Given the description of an element on the screen output the (x, y) to click on. 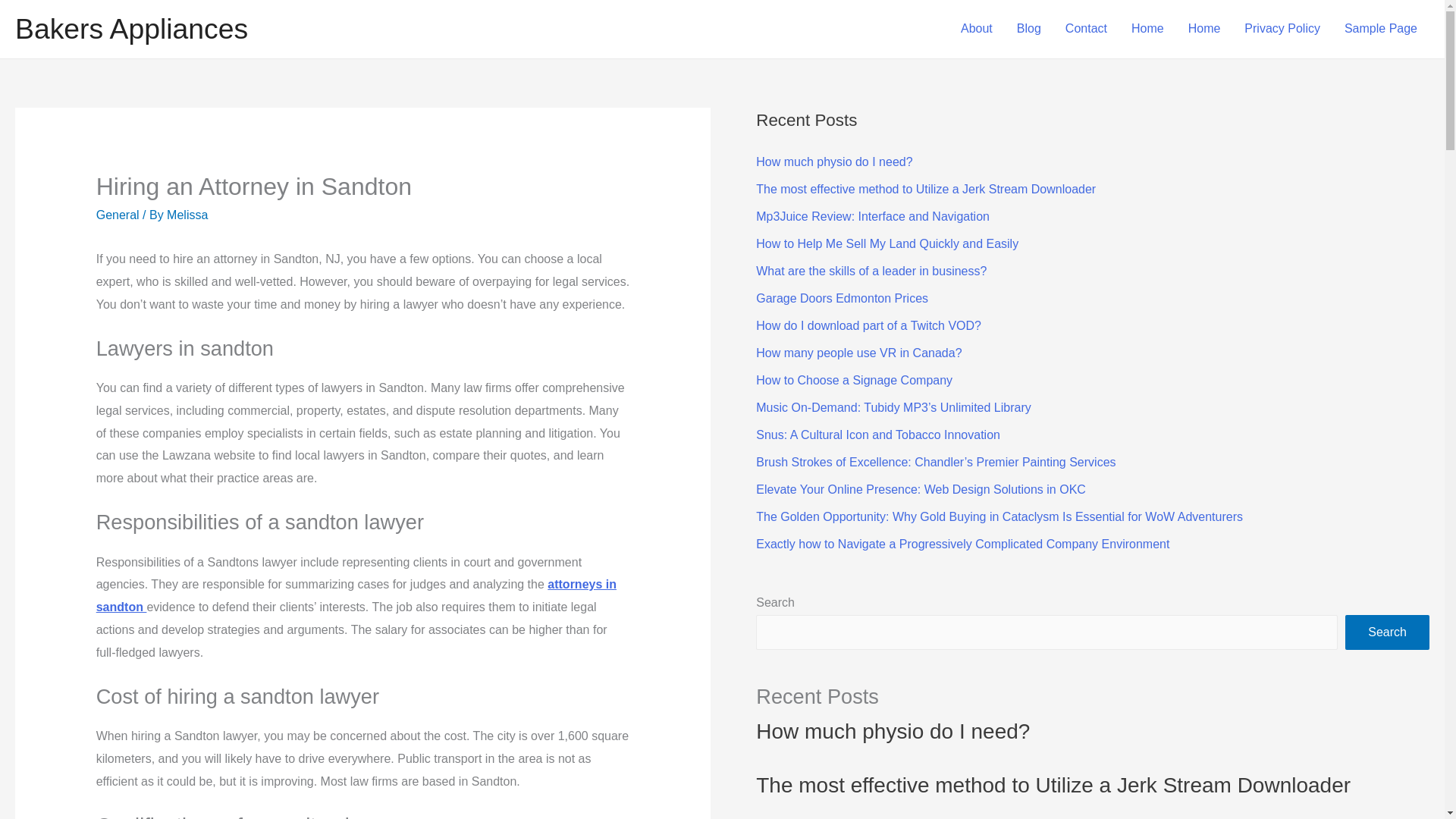
attorneys in sandton (355, 595)
Sample Page (1380, 28)
Contact (1085, 28)
Home (1147, 28)
Melissa (187, 214)
How do I download part of a Twitch VOD? (868, 325)
Elevate Your Online Presence: Web Design Solutions in OKC (920, 489)
Bakers Appliances (130, 29)
How to Help Me Sell My Land Quickly and Easily (886, 243)
Blog (1028, 28)
How many people use VR in Canada? (857, 352)
What are the skills of a leader in business? (871, 270)
View all posts by Melissa (187, 214)
